Given the description of an element on the screen output the (x, y) to click on. 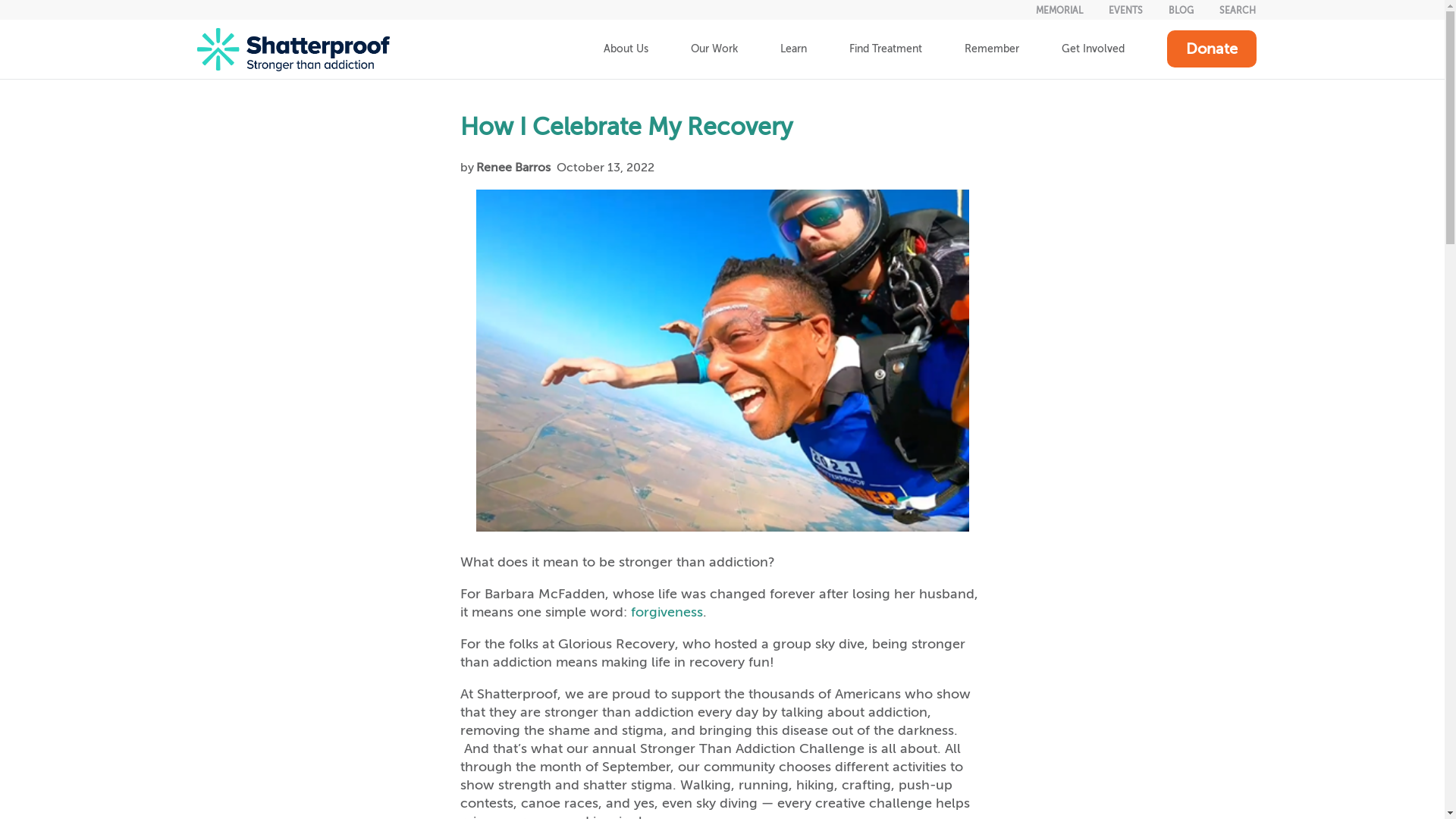
Find Treatment (885, 49)
Learn (792, 49)
About Us (625, 49)
Donate to Shatterproof (1210, 48)
Our Work (713, 49)
EVENTS (1125, 9)
MEMORIAL (1059, 9)
BLOG (1181, 9)
Home (292, 48)
